Given the description of an element on the screen output the (x, y) to click on. 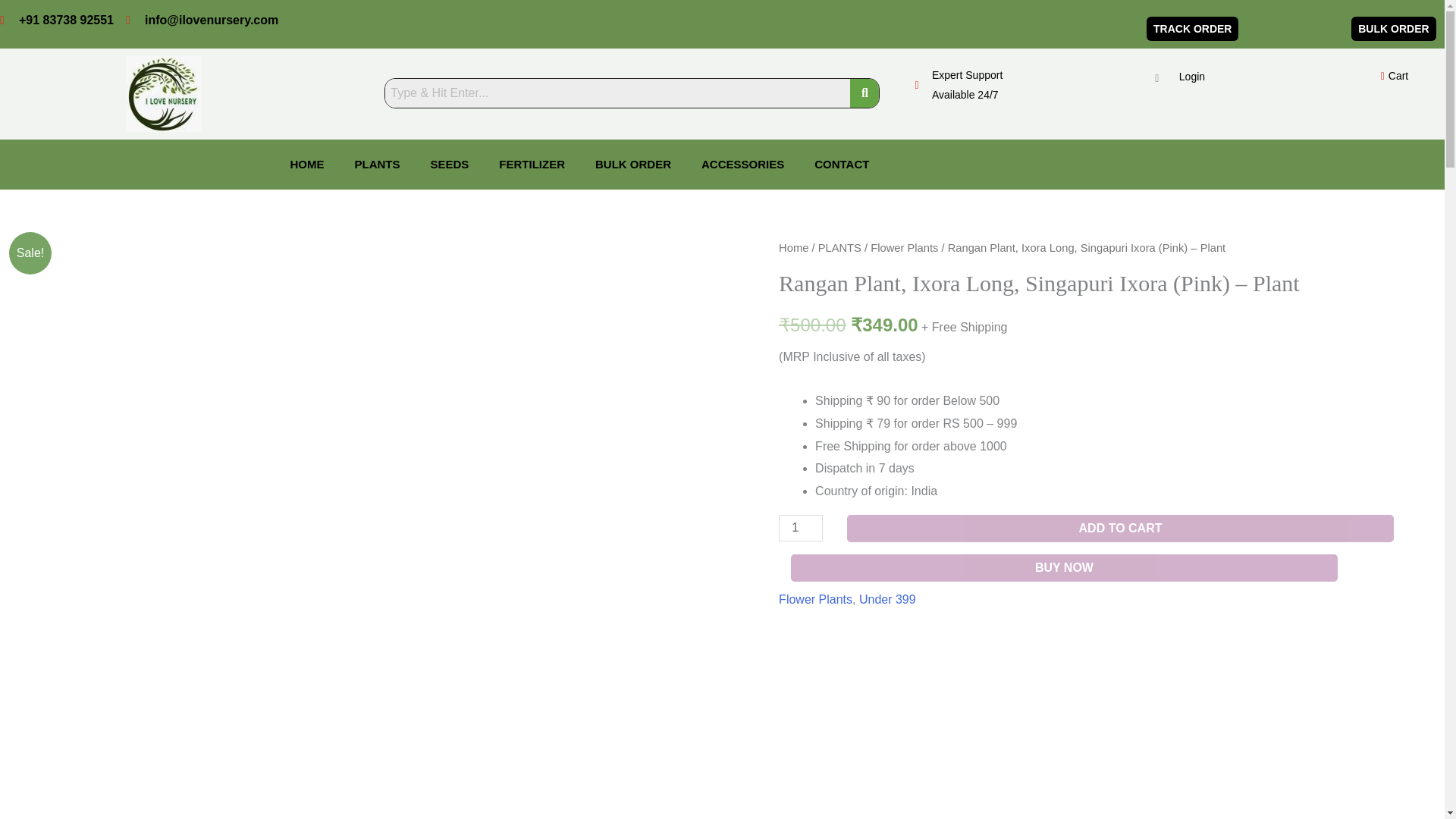
Cart (1389, 76)
PLANTS (376, 164)
Search (617, 92)
1 (800, 528)
Login (1191, 76)
BULK ORDER (632, 164)
FERTILIZER (531, 164)
CONTACT (841, 164)
SEEDS (449, 164)
HOME (307, 164)
